Given the description of an element on the screen output the (x, y) to click on. 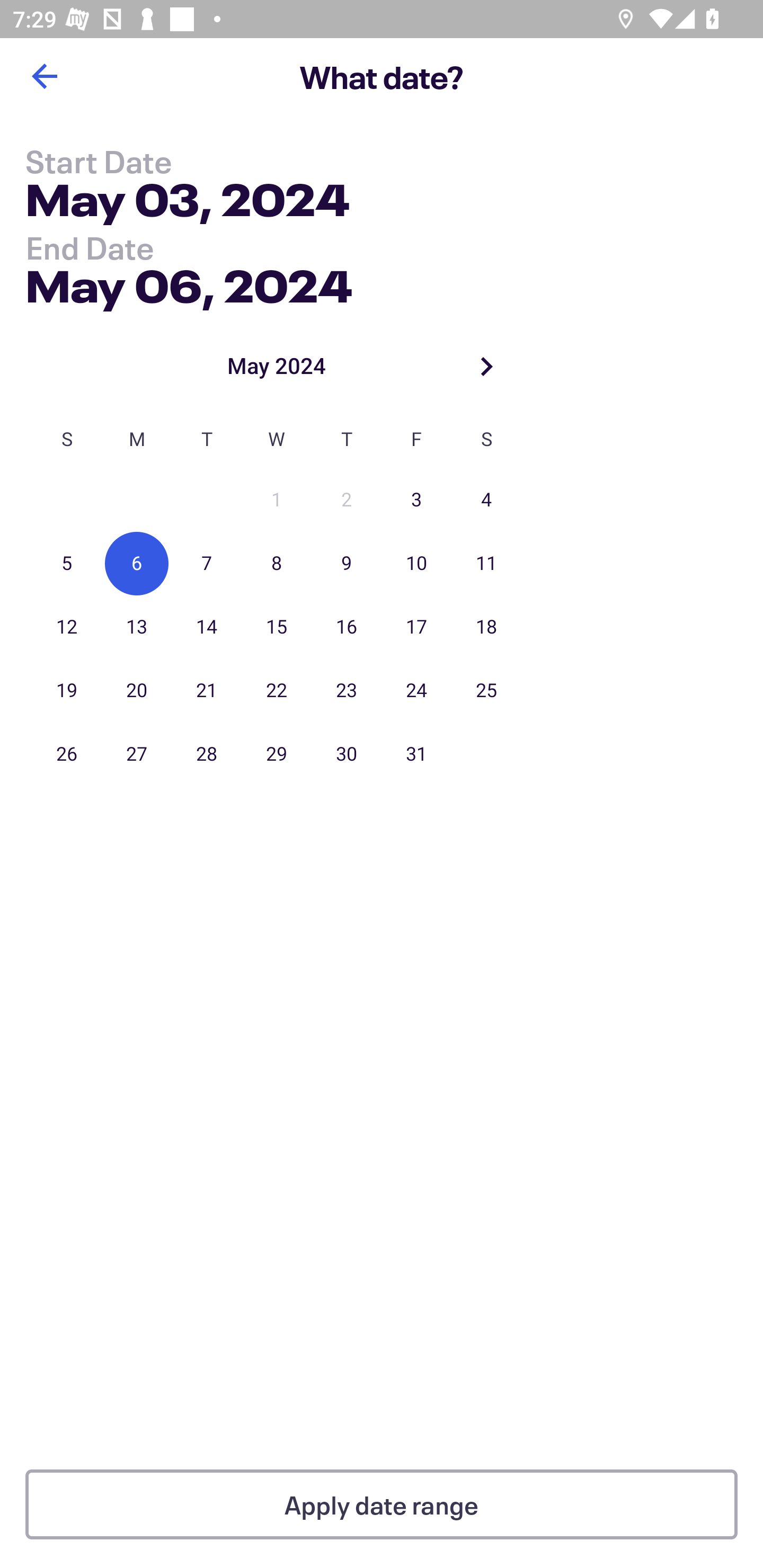
Back button (44, 75)
May 03, 2024 (187, 203)
May 06, 2024 (188, 282)
Next month (486, 365)
1 01 May 2024 (276, 499)
2 02 May 2024 (346, 499)
3 03 May 2024 (416, 499)
4 04 May 2024 (486, 499)
5 05 May 2024 (66, 563)
6 06 May 2024 (136, 563)
7 07 May 2024 (206, 563)
8 08 May 2024 (276, 563)
9 09 May 2024 (346, 563)
10 10 May 2024 (416, 563)
11 11 May 2024 (486, 563)
12 12 May 2024 (66, 626)
13 13 May 2024 (136, 626)
14 14 May 2024 (206, 626)
15 15 May 2024 (276, 626)
16 16 May 2024 (346, 626)
17 17 May 2024 (416, 626)
18 18 May 2024 (486, 626)
19 19 May 2024 (66, 690)
20 20 May 2024 (136, 690)
21 21 May 2024 (206, 690)
22 22 May 2024 (276, 690)
23 23 May 2024 (346, 690)
24 24 May 2024 (416, 690)
25 25 May 2024 (486, 690)
26 26 May 2024 (66, 753)
27 27 May 2024 (136, 753)
28 28 May 2024 (206, 753)
29 29 May 2024 (276, 753)
30 30 May 2024 (346, 753)
31 31 May 2024 (416, 753)
Apply date range (381, 1504)
